Given the description of an element on the screen output the (x, y) to click on. 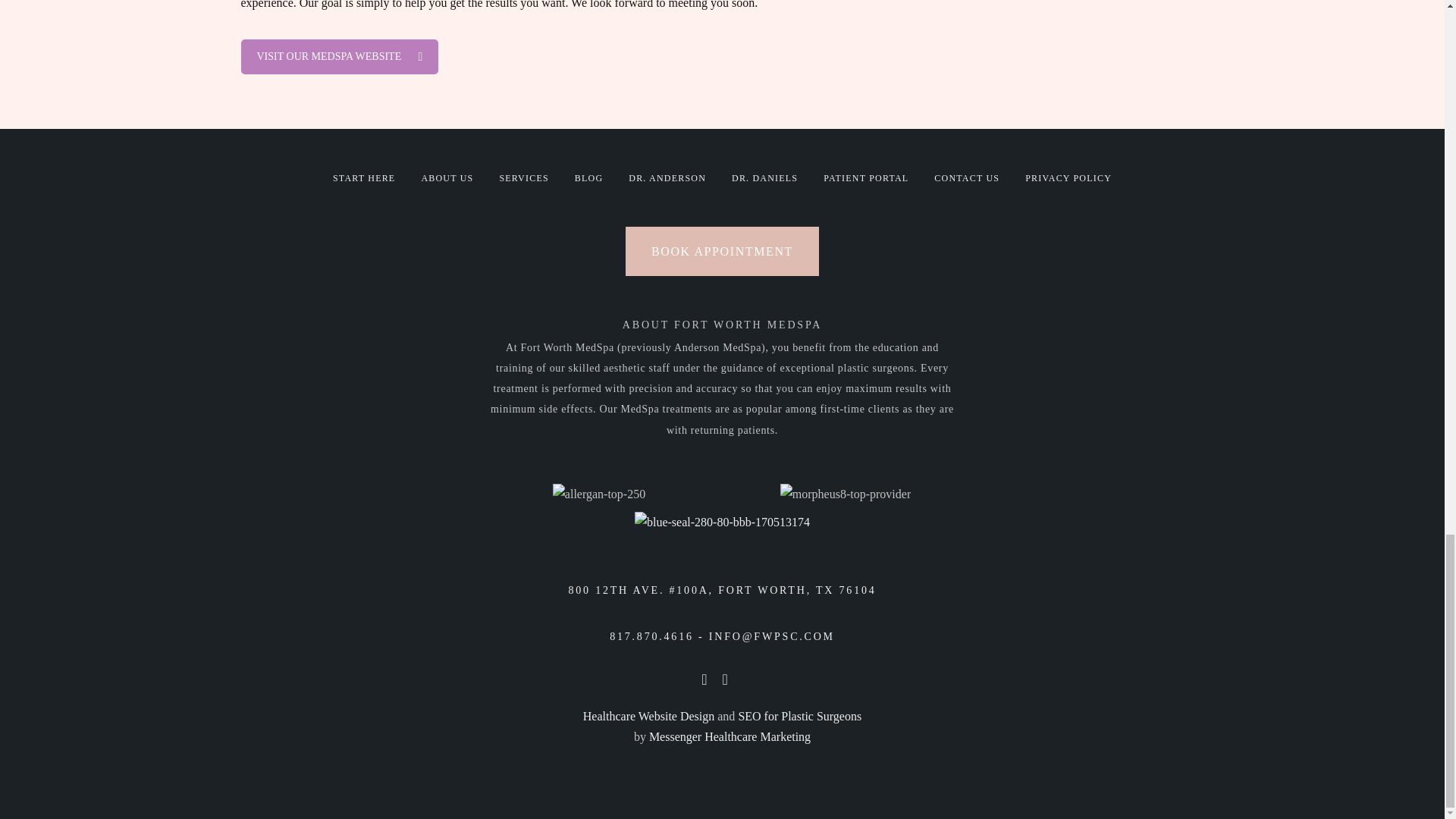
morpheus8-top-provider (845, 494)
allergan-top-250 (599, 494)
blue-seal-280-80-bbb-170513174 (721, 521)
